Given the description of an element on the screen output the (x, y) to click on. 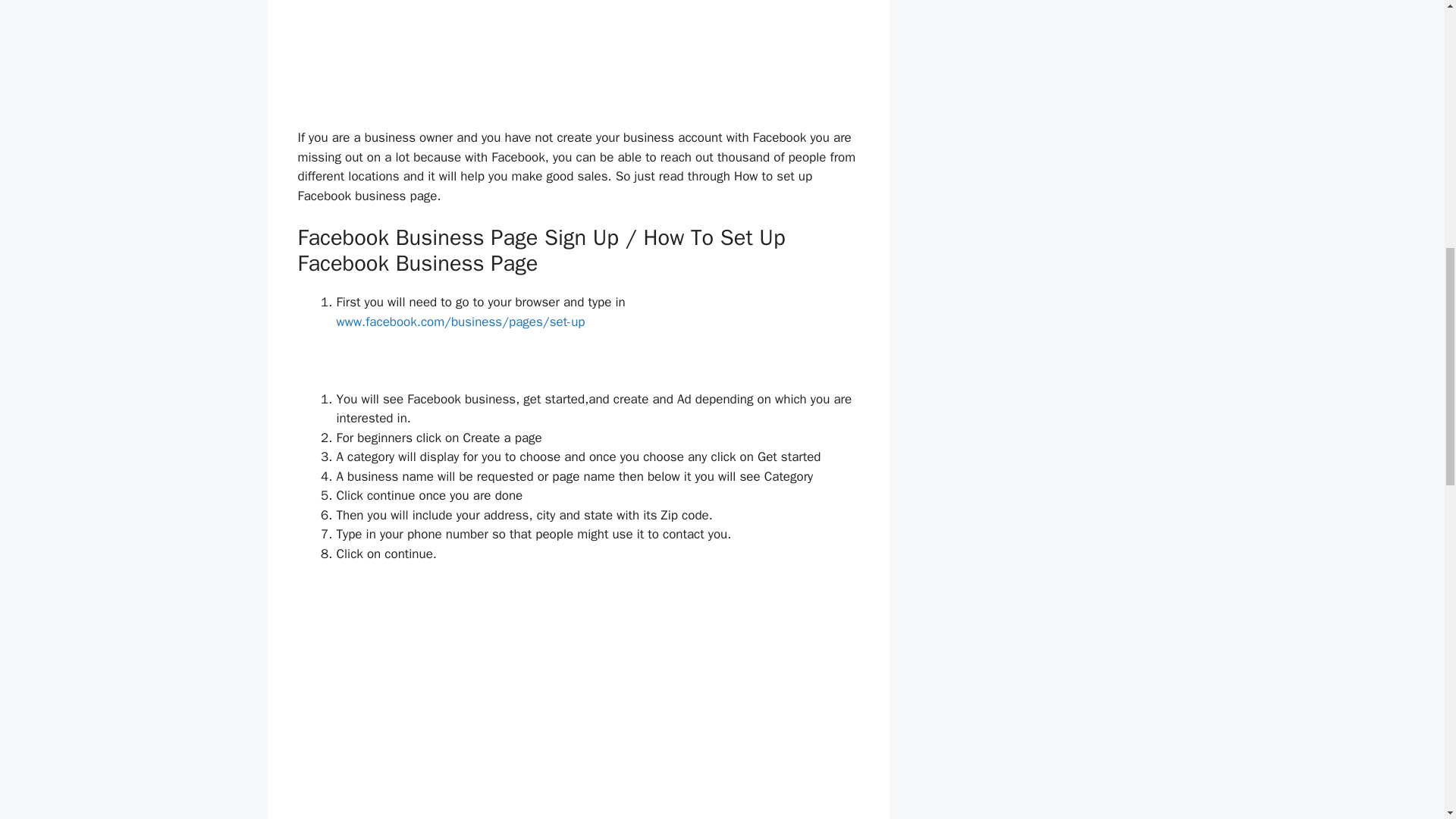
Advertisement (577, 696)
Advertisement (577, 61)
